Given the description of an element on the screen output the (x, y) to click on. 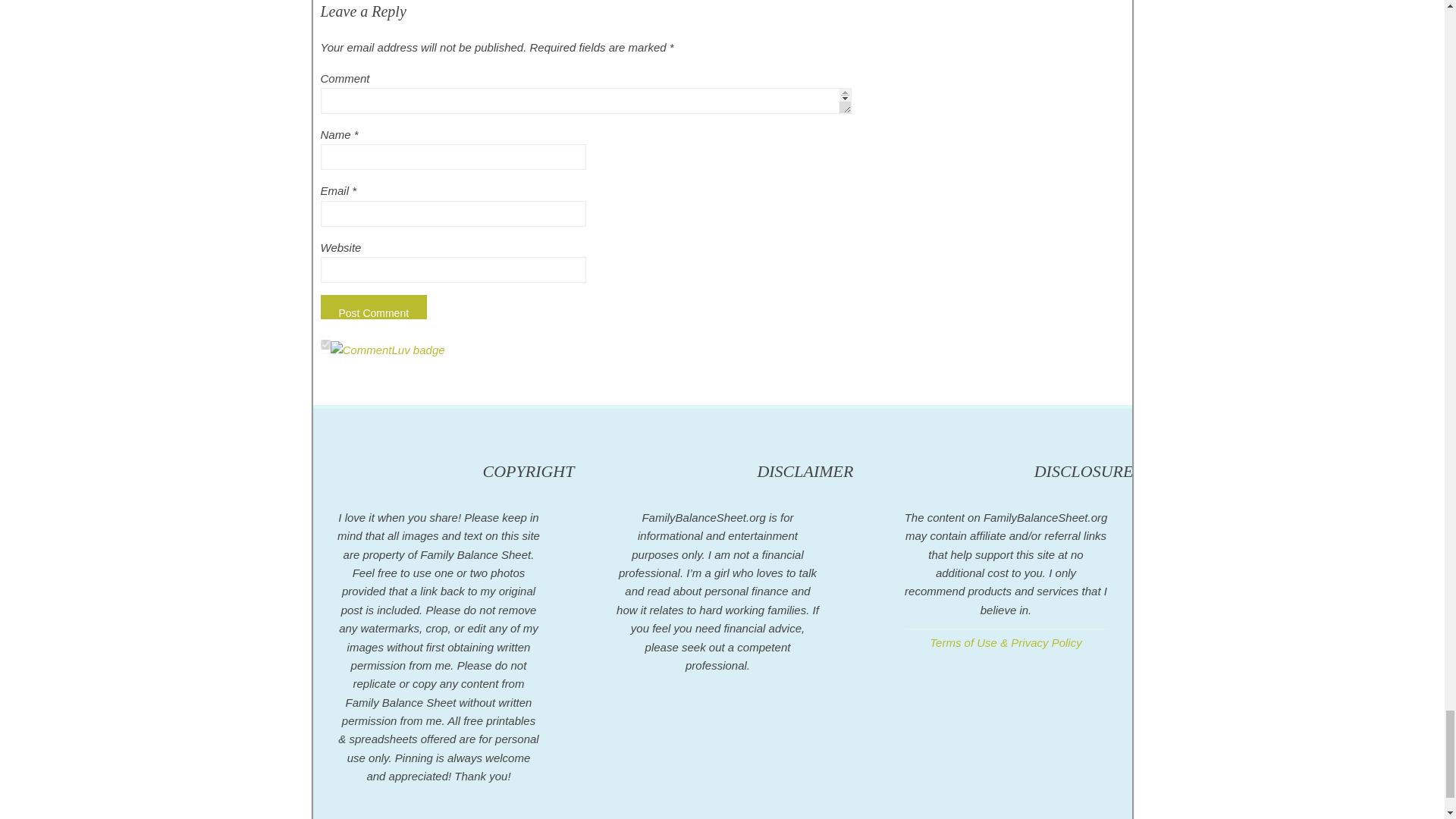
Post Comment (373, 306)
CommentLuv is enabled (387, 349)
